Given the description of an element on the screen output the (x, y) to click on. 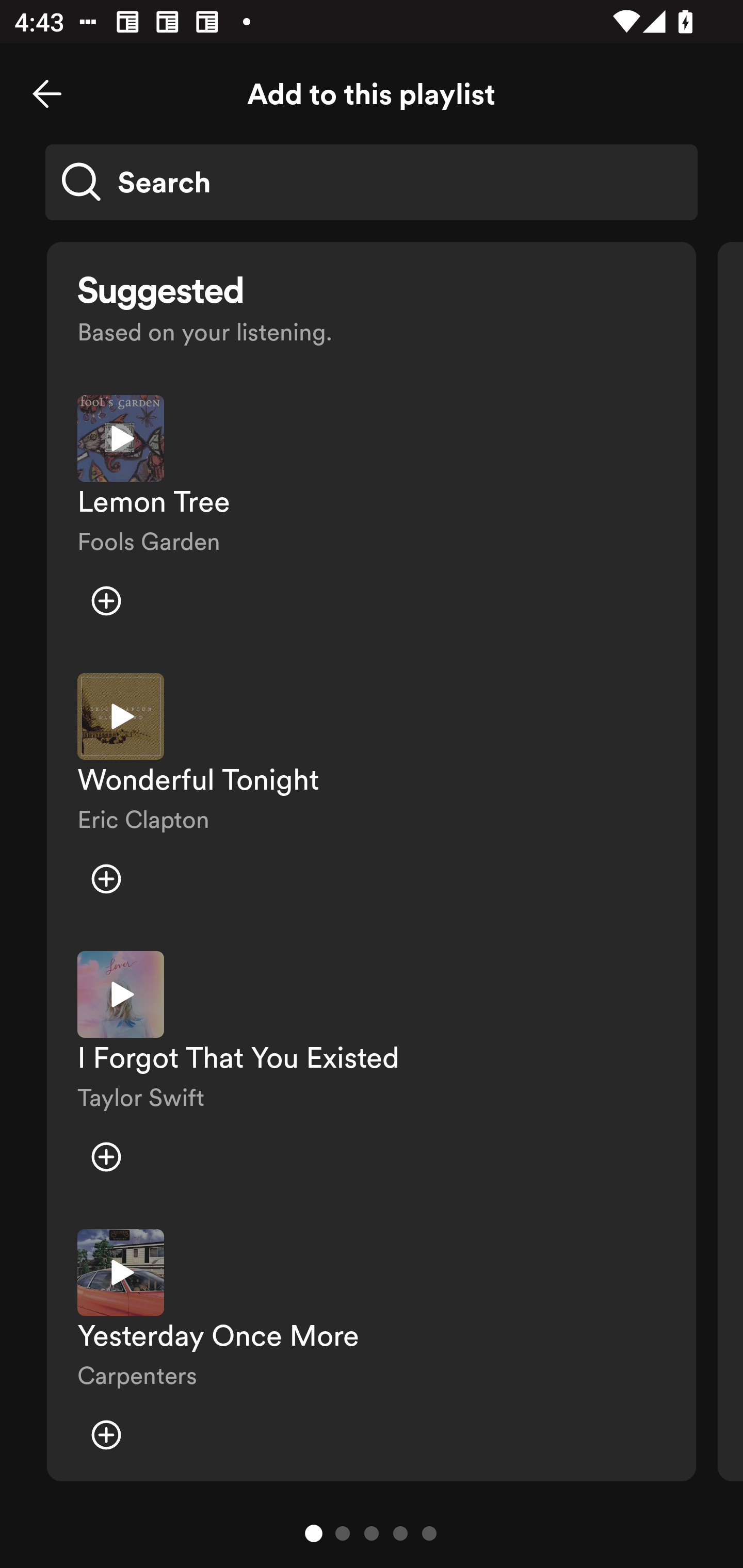
Close (46, 93)
Search (371, 181)
Play preview Lemon Tree Fools Garden Add item (371, 519)
Play preview (120, 438)
Add item (106, 601)
Play preview (120, 716)
Add item (106, 878)
Play preview (120, 994)
Add item (106, 1156)
Play preview (120, 1272)
Add item (106, 1435)
